Given the description of an element on the screen output the (x, y) to click on. 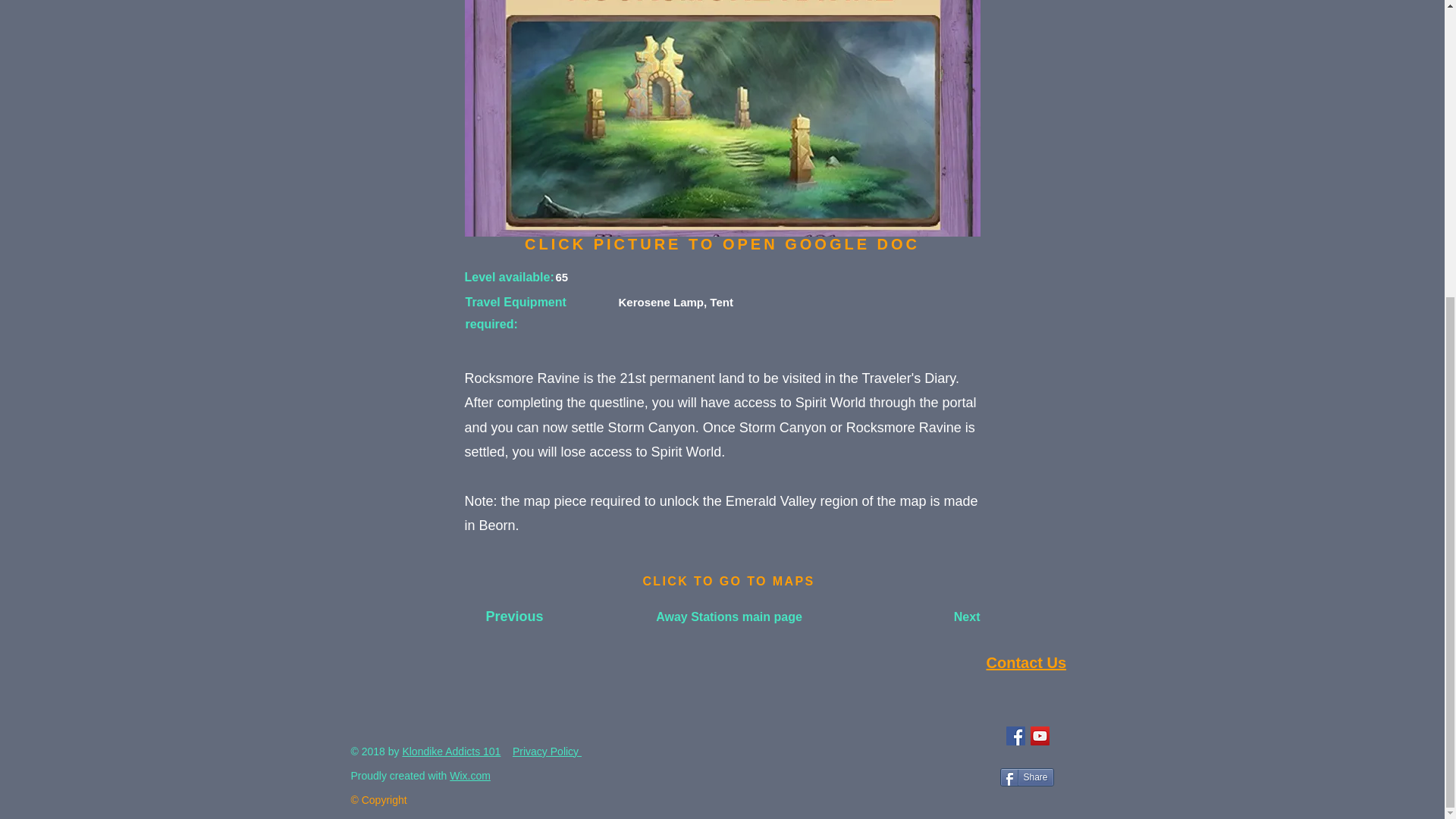
Contact Us (1025, 662)
Share (1025, 777)
Next (941, 616)
Previous (514, 616)
CLICK TO GO TO MAPS (728, 581)
Away Stations main page (728, 616)
Rocksmore Ravine.jpg (721, 118)
Klondike Addicts 101 (450, 751)
